Given the description of an element on the screen output the (x, y) to click on. 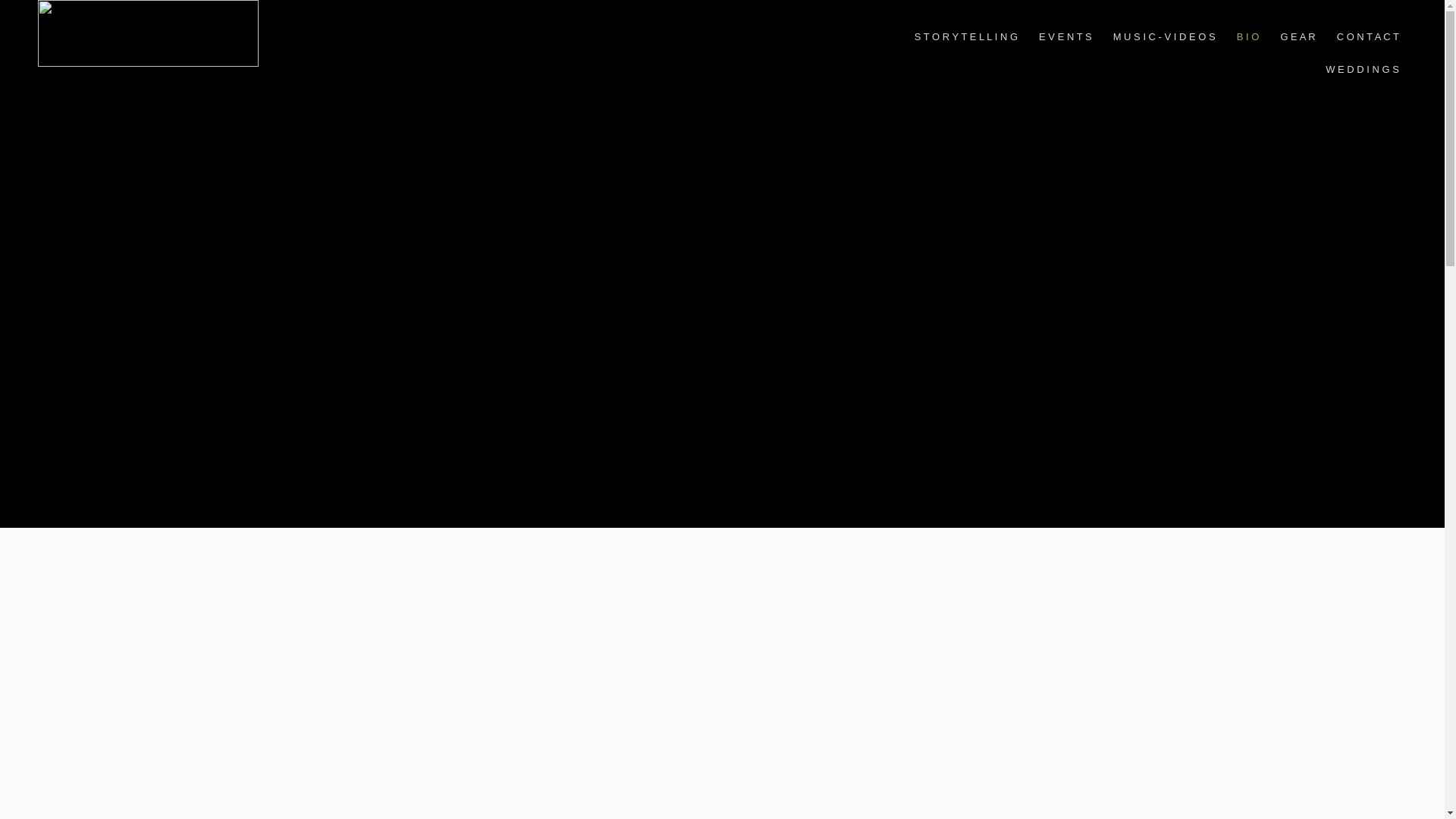
M U S I C - V I D E O S (1164, 36)
S T O R Y T E L L I N G (966, 36)
W E D D I N G S (1361, 69)
C O N T A C T (1367, 36)
B I O (1247, 36)
G E A R (1297, 36)
E V E N T S (1064, 36)
